Given the description of an element on the screen output the (x, y) to click on. 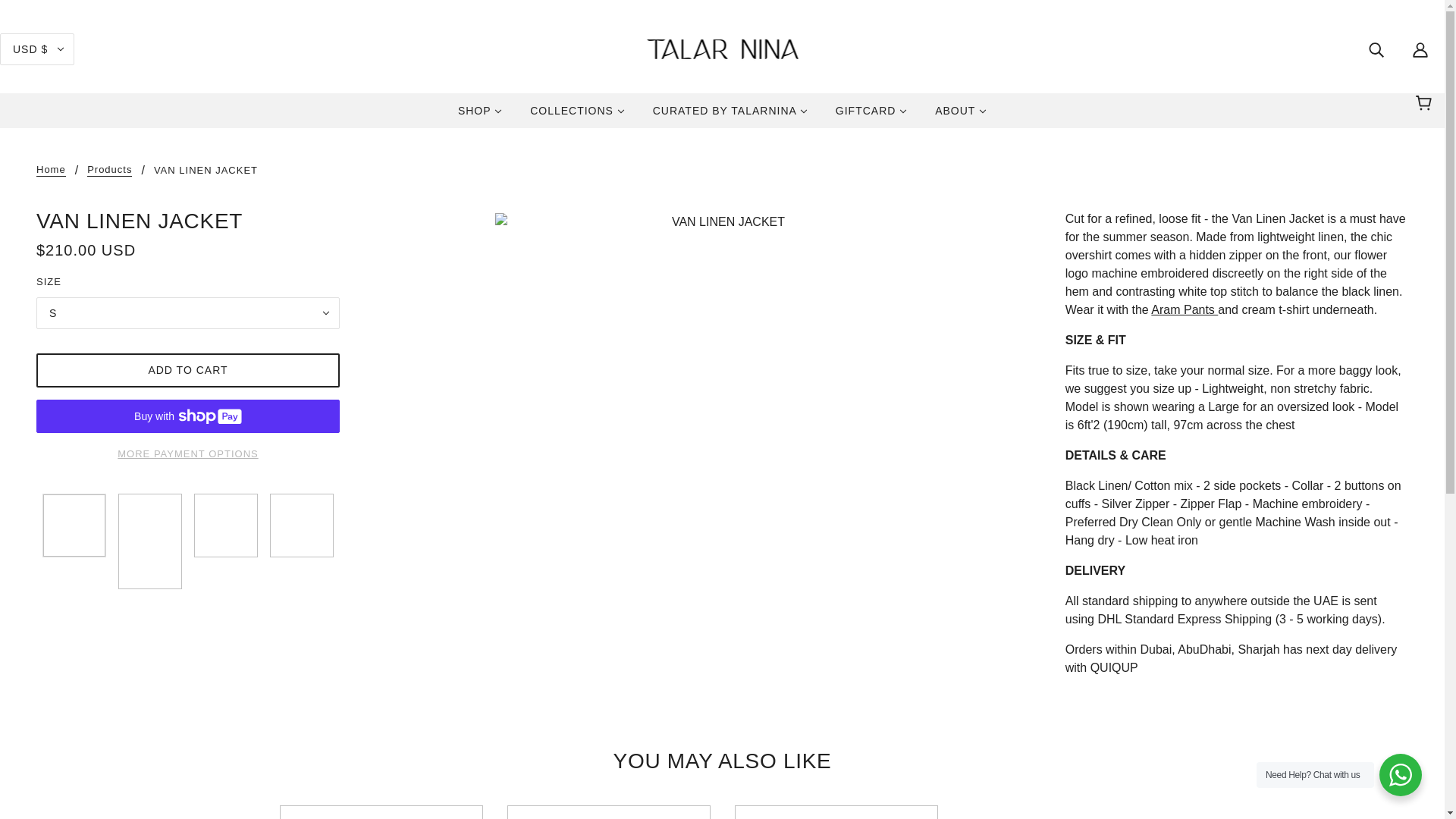
Talar Nina  (721, 47)
